Given the description of an element on the screen output the (x, y) to click on. 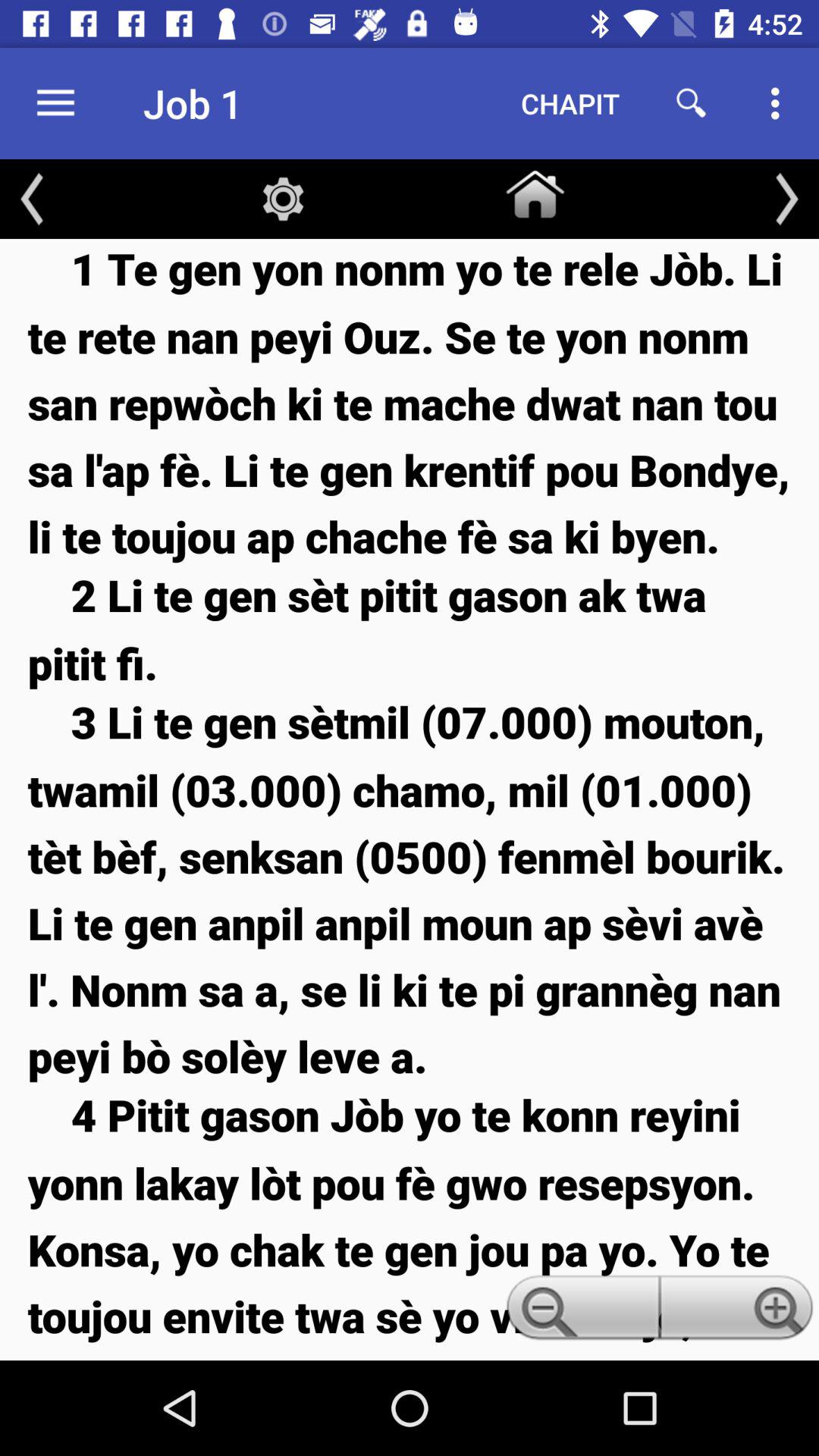
choose the icon next to chapit (691, 103)
